Given the description of an element on the screen output the (x, y) to click on. 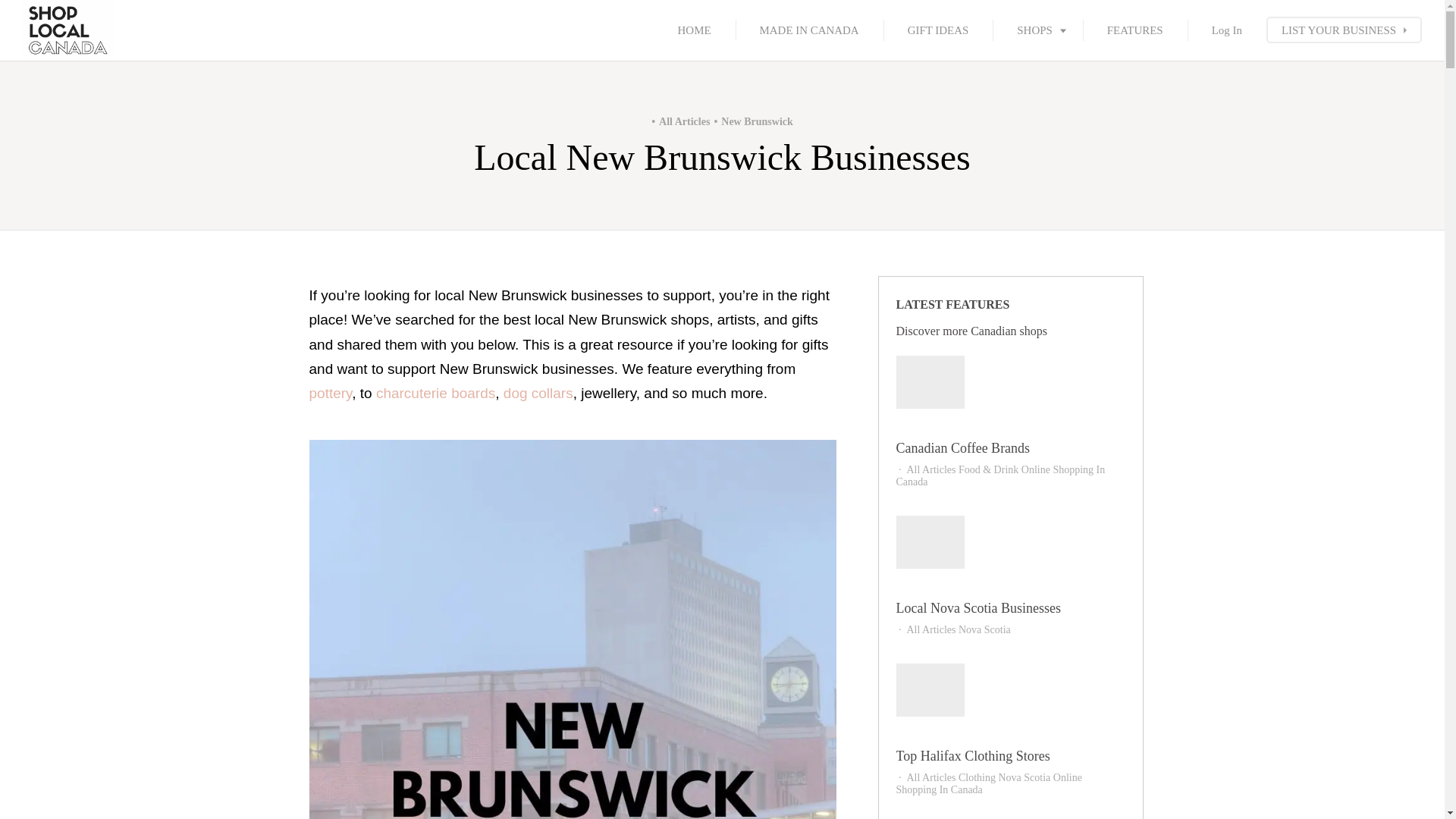
HOME (694, 30)
LIST YOUR BUSINESS (1344, 29)
charcuterie boards (435, 392)
dog collars (538, 392)
GIFT IDEAS (937, 30)
pottery (330, 392)
FEATURES (1135, 30)
New Brunswick (751, 121)
SHOPS (1037, 30)
MADE IN CANADA (809, 30)
